Given the description of an element on the screen output the (x, y) to click on. 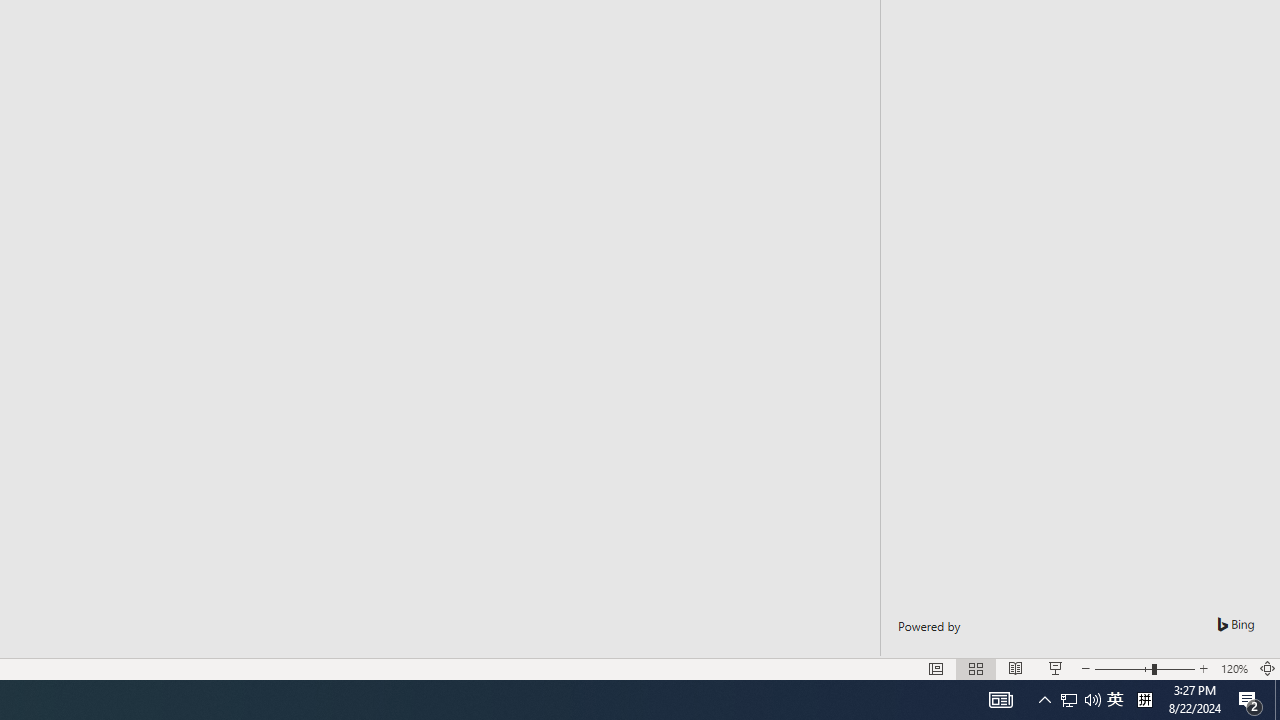
Zoom 120% (1234, 668)
